Given the description of an element on the screen output the (x, y) to click on. 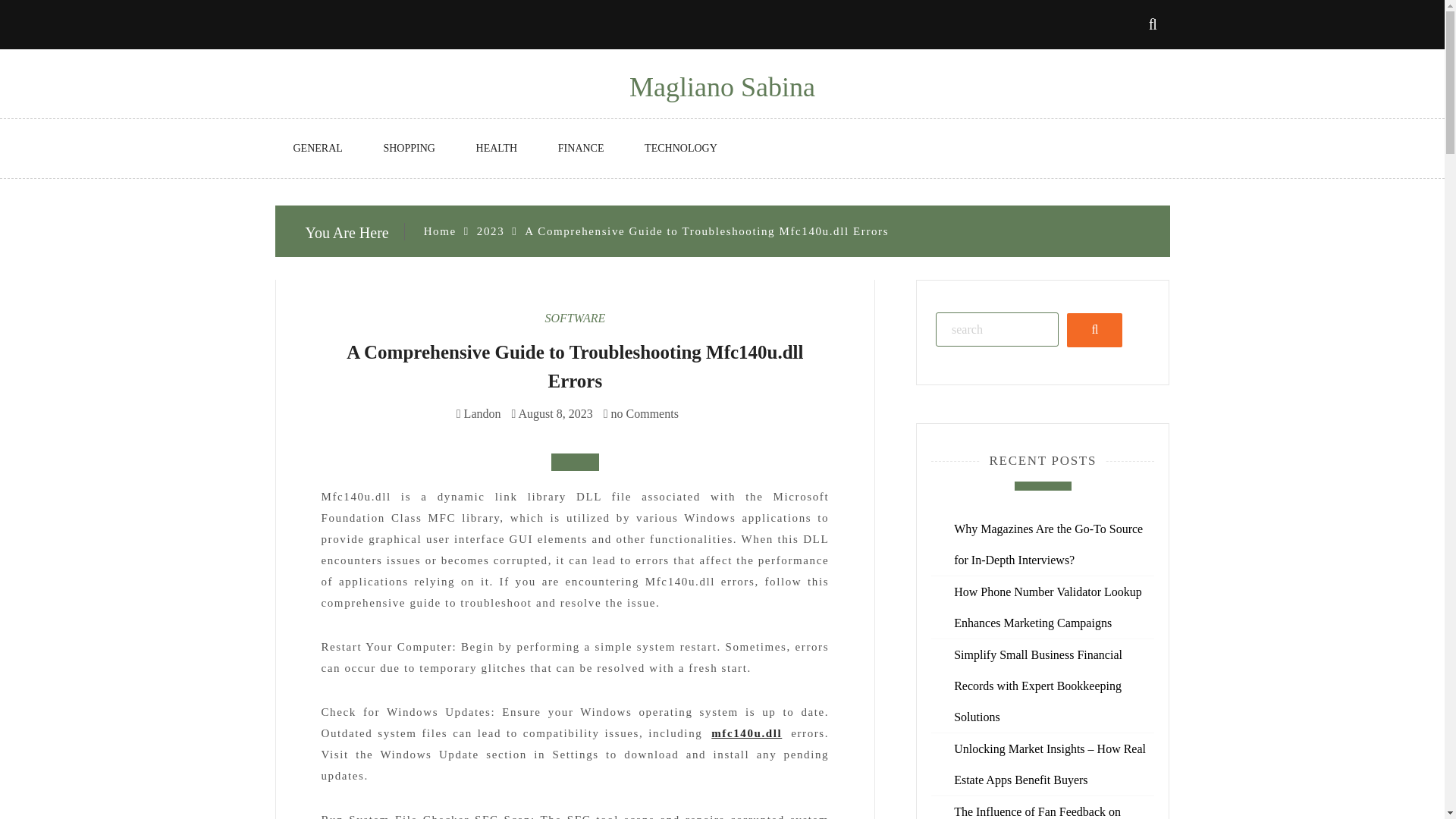
TECHNOLOGY (680, 148)
FINANCE (581, 148)
no Comments (641, 413)
Home (440, 231)
A Comprehensive Guide to Troubleshooting Mfc140u.dll Errors (574, 366)
GENERAL (317, 148)
HEALTH (496, 148)
Why Magazines Are the Go-To Source for In-Depth Interviews? (1047, 544)
